Given the description of an element on the screen output the (x, y) to click on. 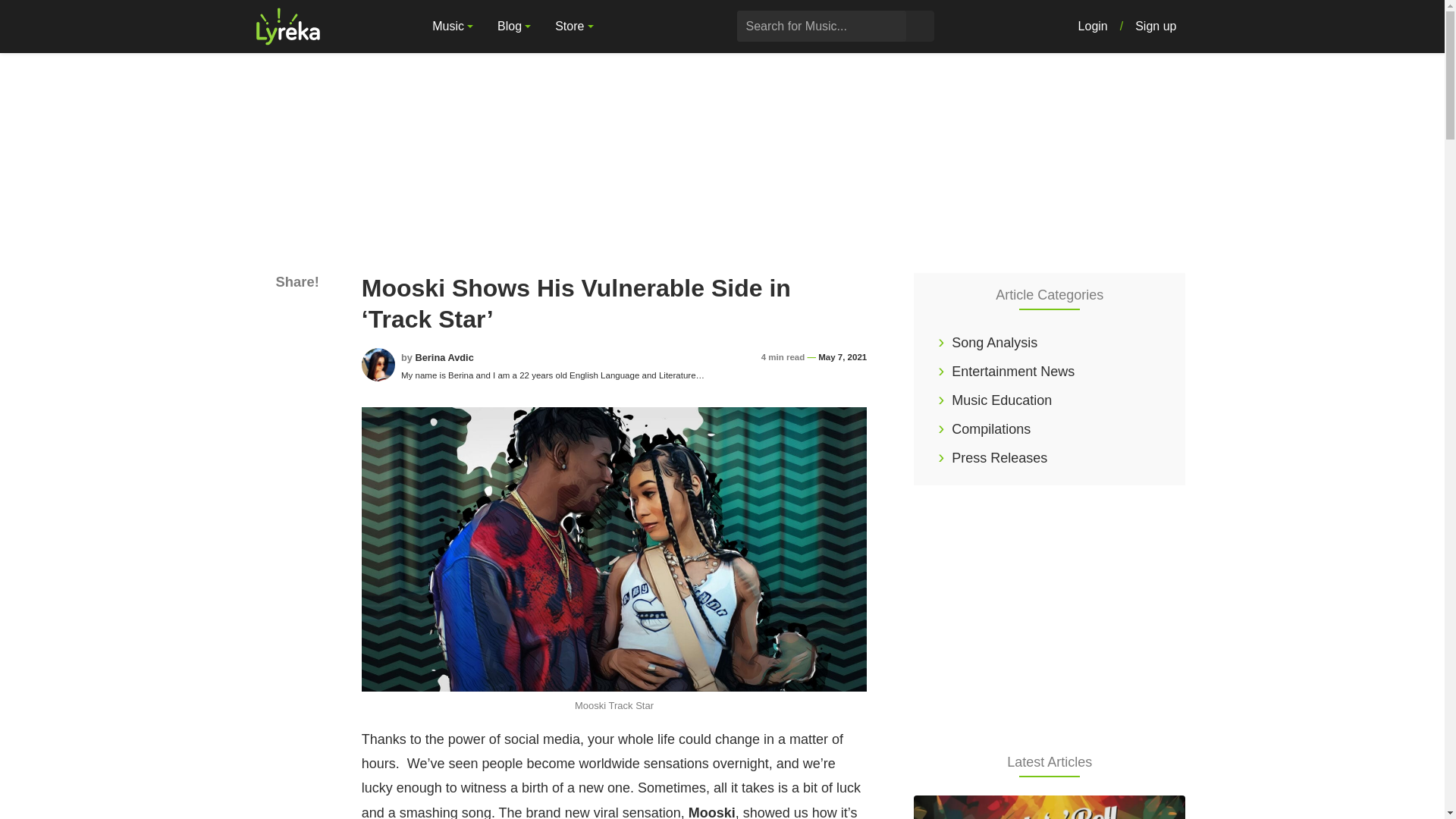
Music (452, 26)
Store (574, 26)
Sign up (1155, 26)
Mooski (711, 812)
Berina Avdic (444, 357)
Blog (513, 26)
Login (1092, 26)
Store (574, 26)
Blog (513, 26)
Music (452, 26)
